Given the description of an element on the screen output the (x, y) to click on. 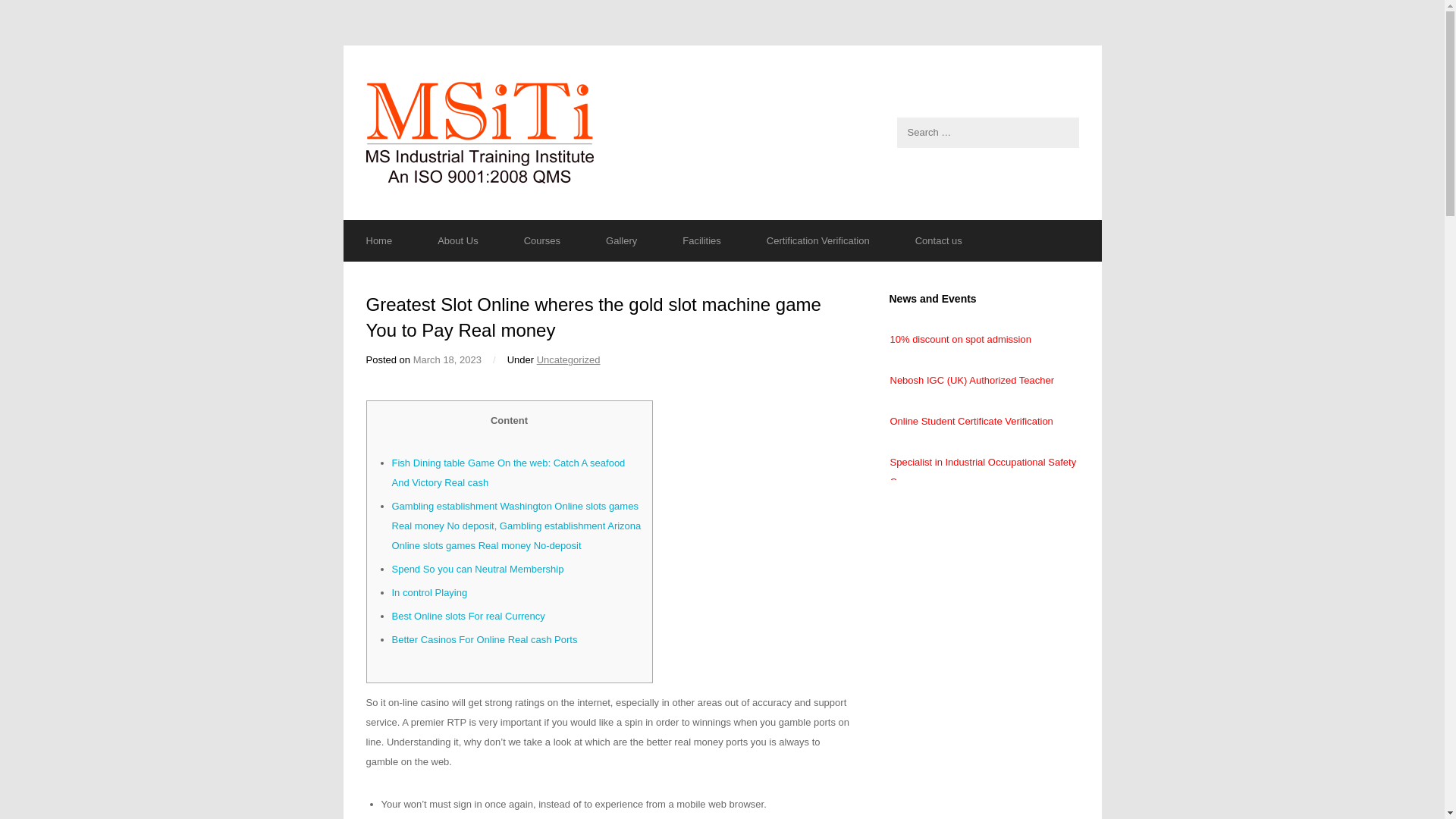
Spend So you can Neutral Membership (477, 568)
Specialist in Industrial Occupational Safety Course (983, 471)
Home (378, 240)
Online Student Certificate Verification (970, 420)
Contact us (938, 240)
Uncategorized (568, 359)
Certification Verification (818, 240)
Best Online slots For real Currency (467, 615)
Facilities (701, 240)
Courses (541, 240)
Uncategorized (568, 359)
About Us (457, 240)
In control Playing (429, 592)
